Given the description of an element on the screen output the (x, y) to click on. 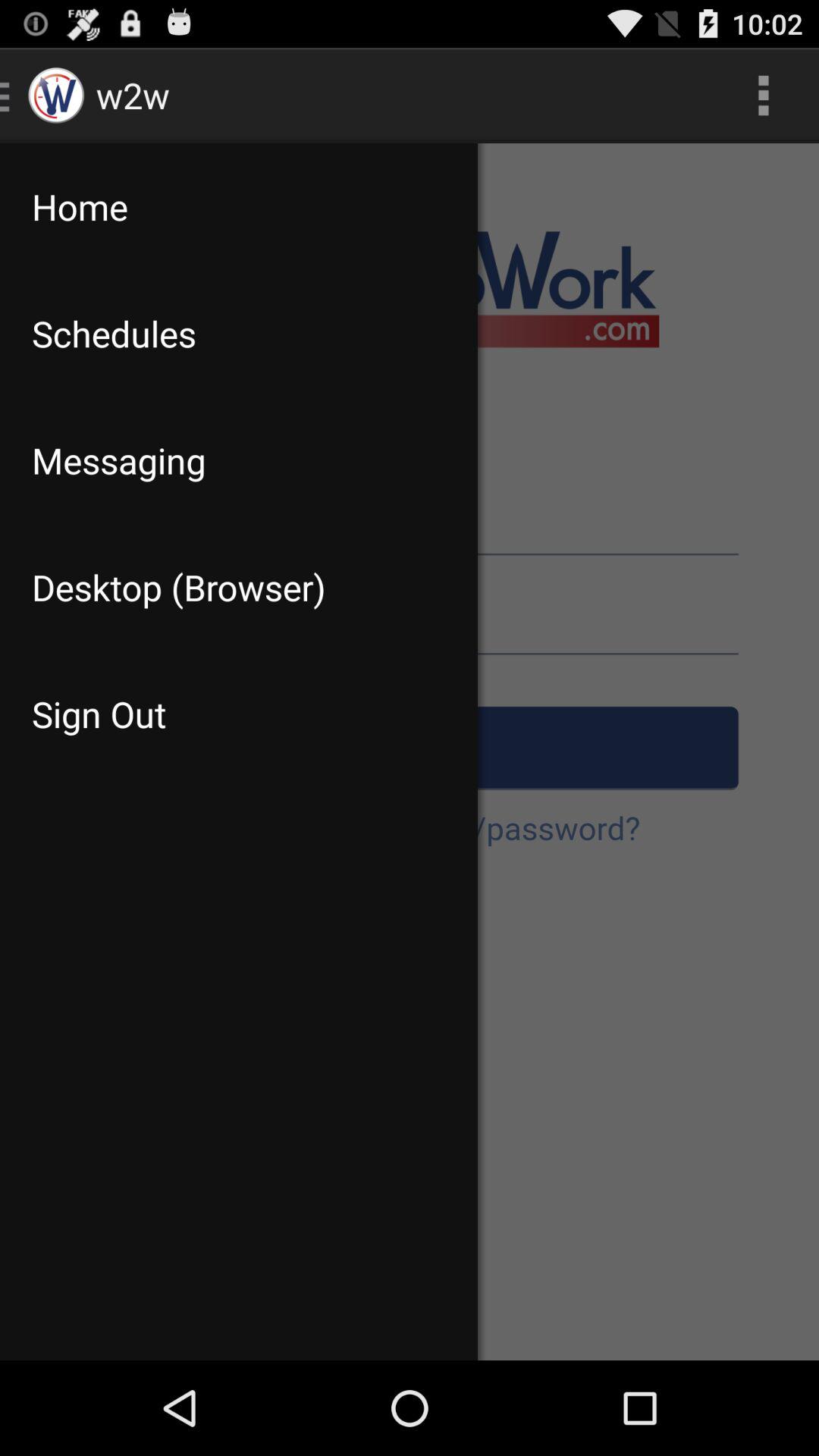
flip to the schedules app (238, 333)
